Given the description of an element on the screen output the (x, y) to click on. 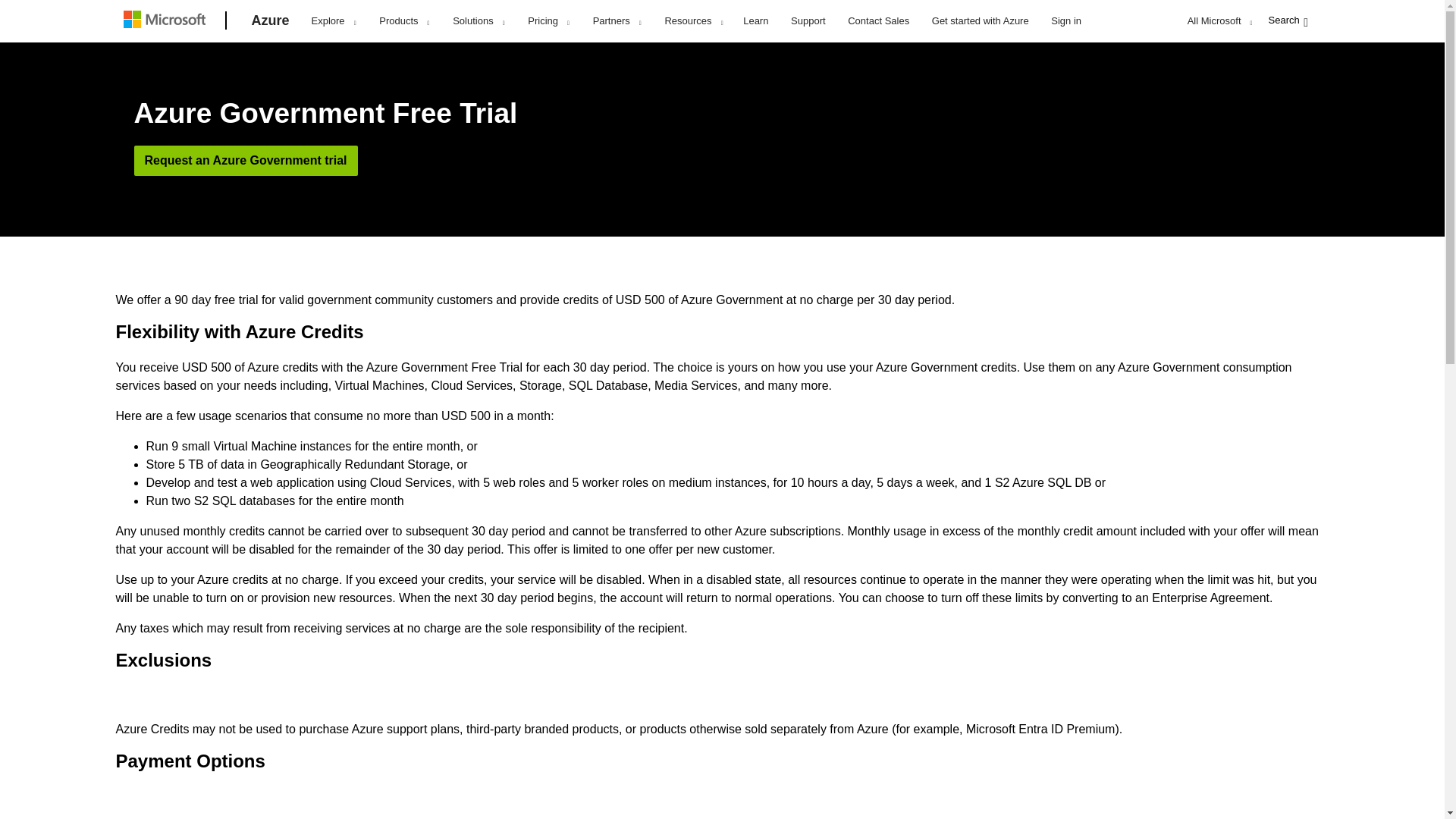
Explore (333, 20)
Products (403, 20)
Azure (270, 20)
Microsoft (167, 20)
